Given the description of an element on the screen output the (x, y) to click on. 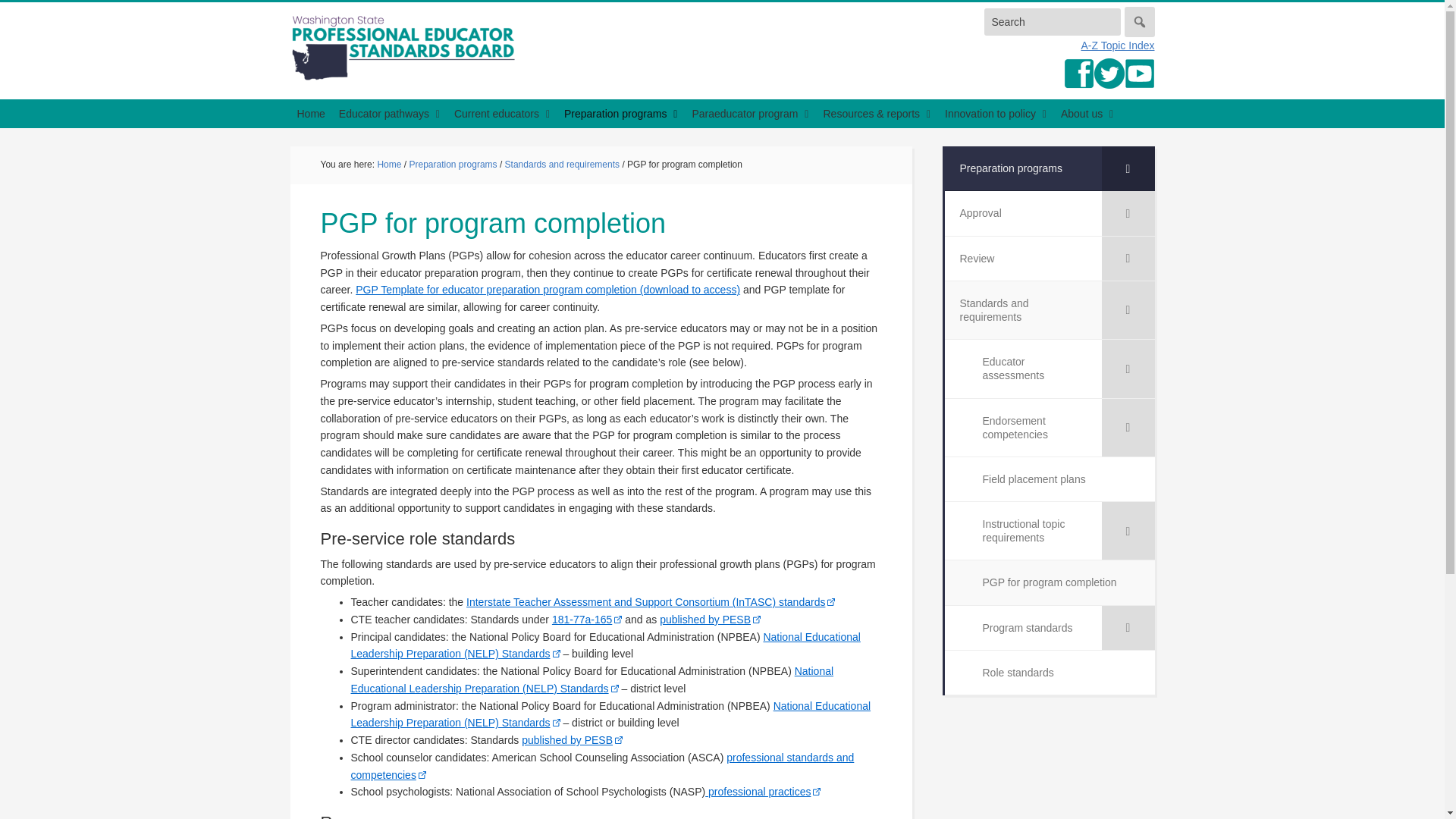
A-Z Topic Index (1117, 45)
Home (310, 113)
Professional Educator Standards Board (402, 47)
